Given the description of an element on the screen output the (x, y) to click on. 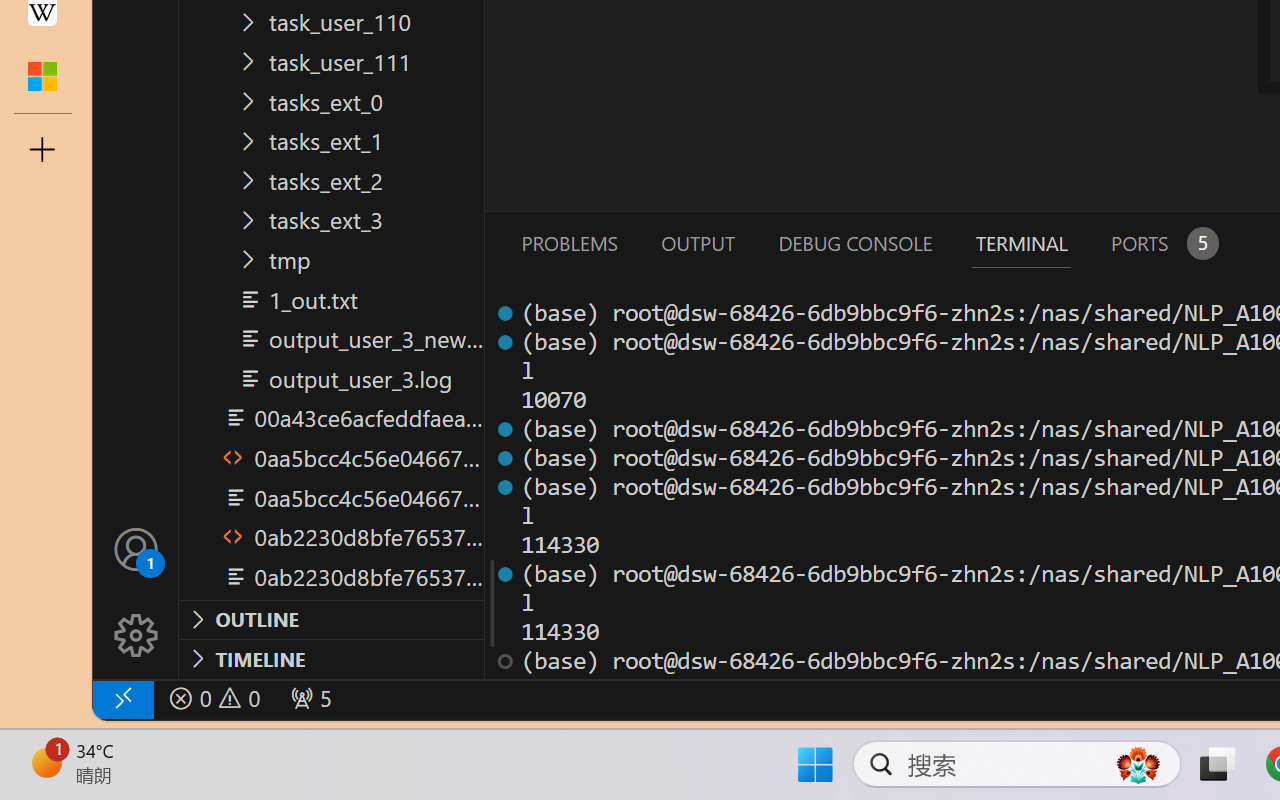
Terminal (Ctrl+`) (1021, 243)
Problems (Ctrl+Shift+M) (567, 243)
Outline Section (331, 619)
